Given the description of an element on the screen output the (x, y) to click on. 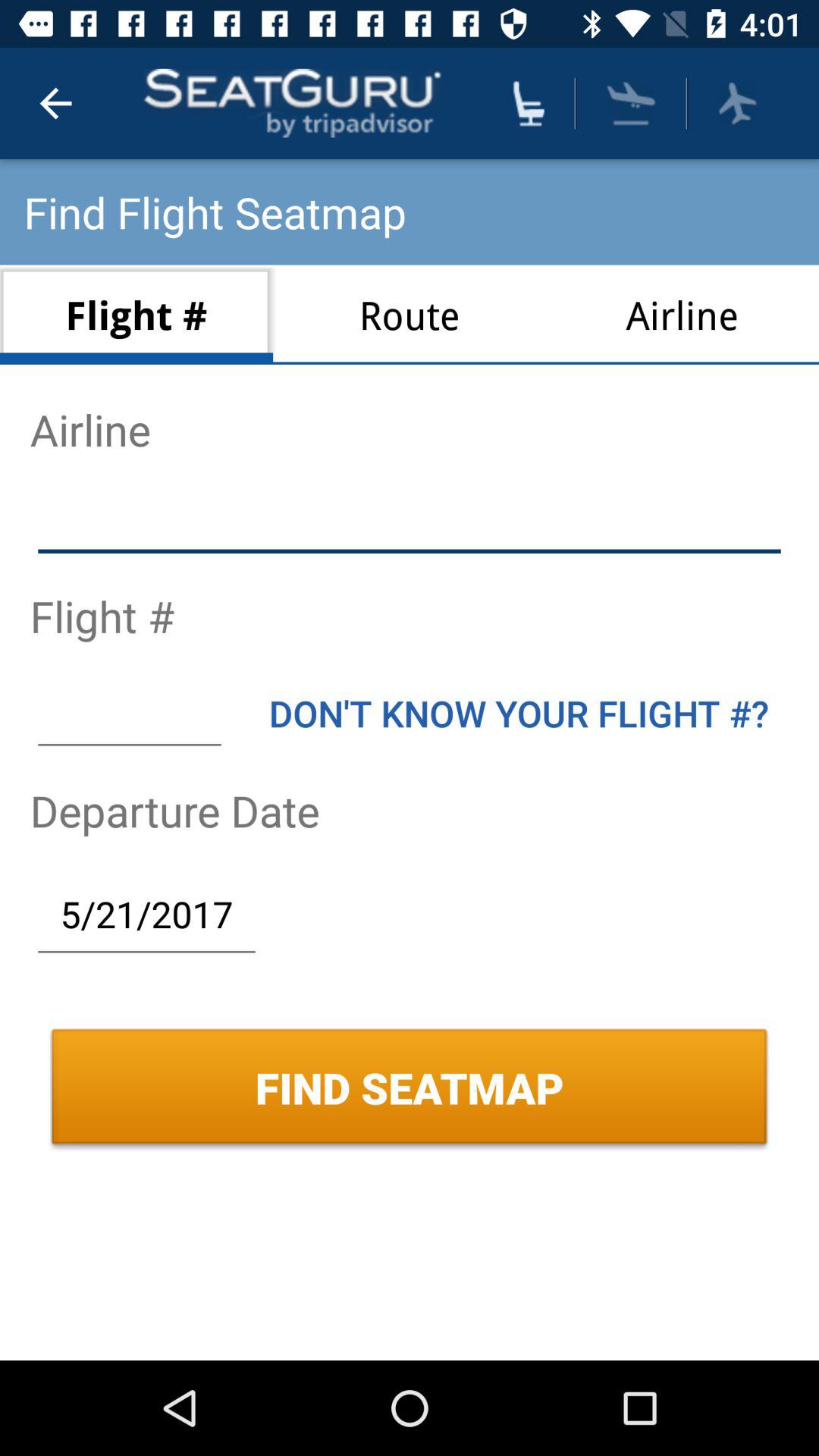
flight find seat map (737, 103)
